Given the description of an element on the screen output the (x, y) to click on. 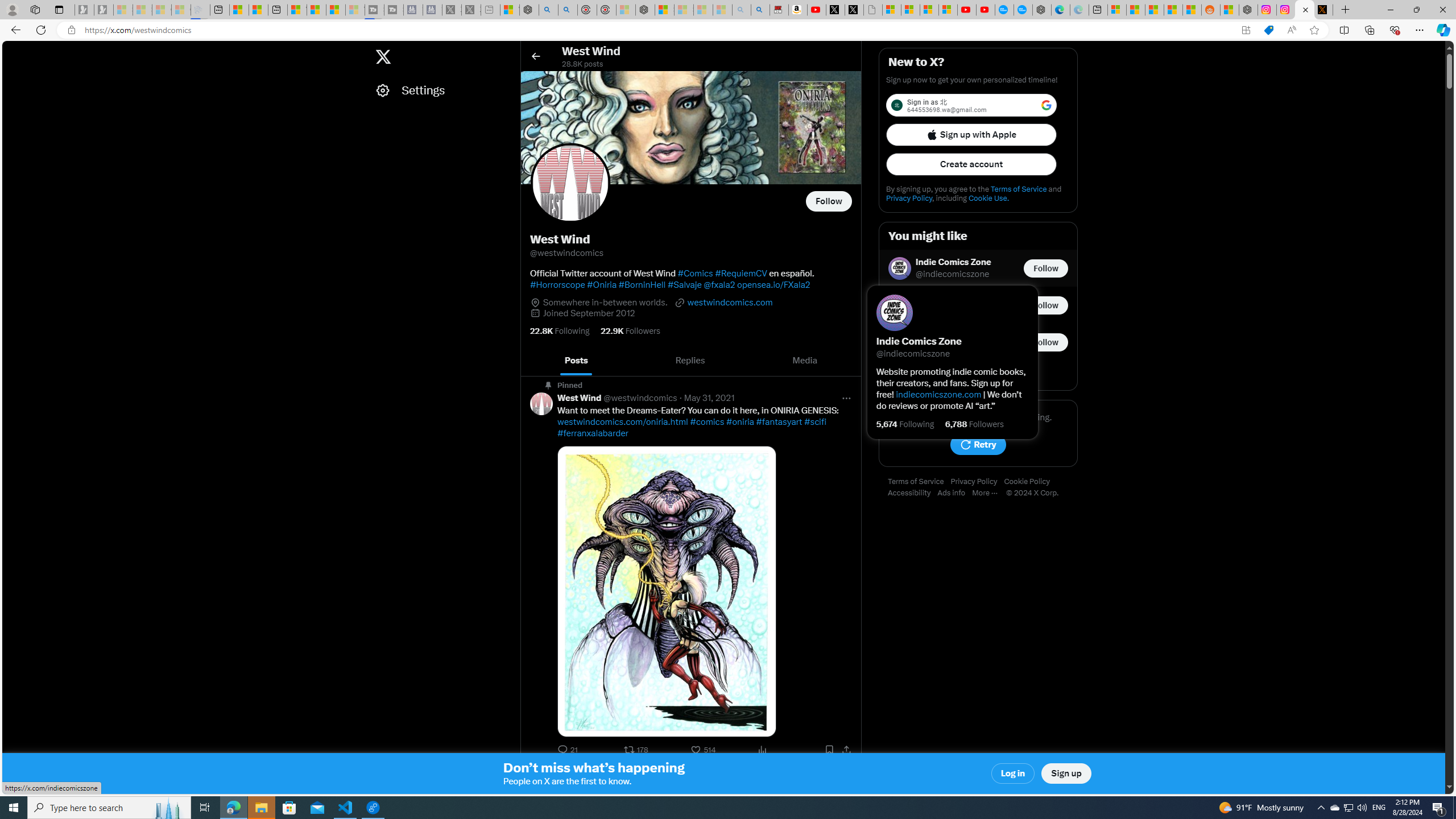
Dean Robert Willetts (958, 299)
#BorninHell (641, 284)
#Salvaje (683, 284)
View post analytics (762, 749)
West Wind (@westwindcomics) / X (1304, 9)
#RequiemCV (740, 272)
May 31, 2021 (709, 398)
Nordace - Nordace has arrived Hong Kong (1041, 9)
